Given the description of an element on the screen output the (x, y) to click on. 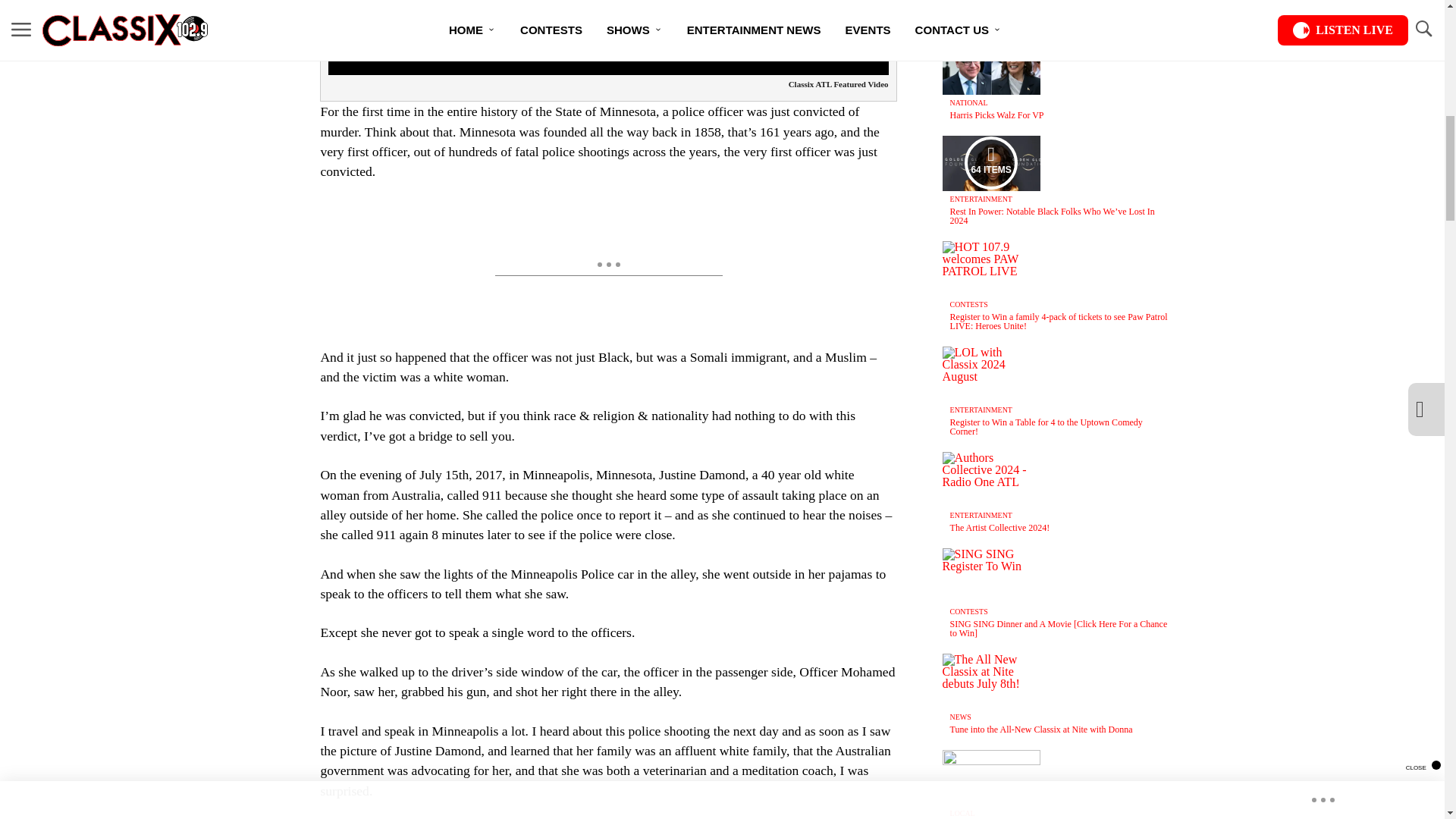
ENTERTAINMENT (980, 198)
NATIONAL (969, 102)
Harris Picks Walz For VP (996, 114)
Media Playlist (990, 162)
64 ITEMS (991, 162)
